Given the description of an element on the screen output the (x, y) to click on. 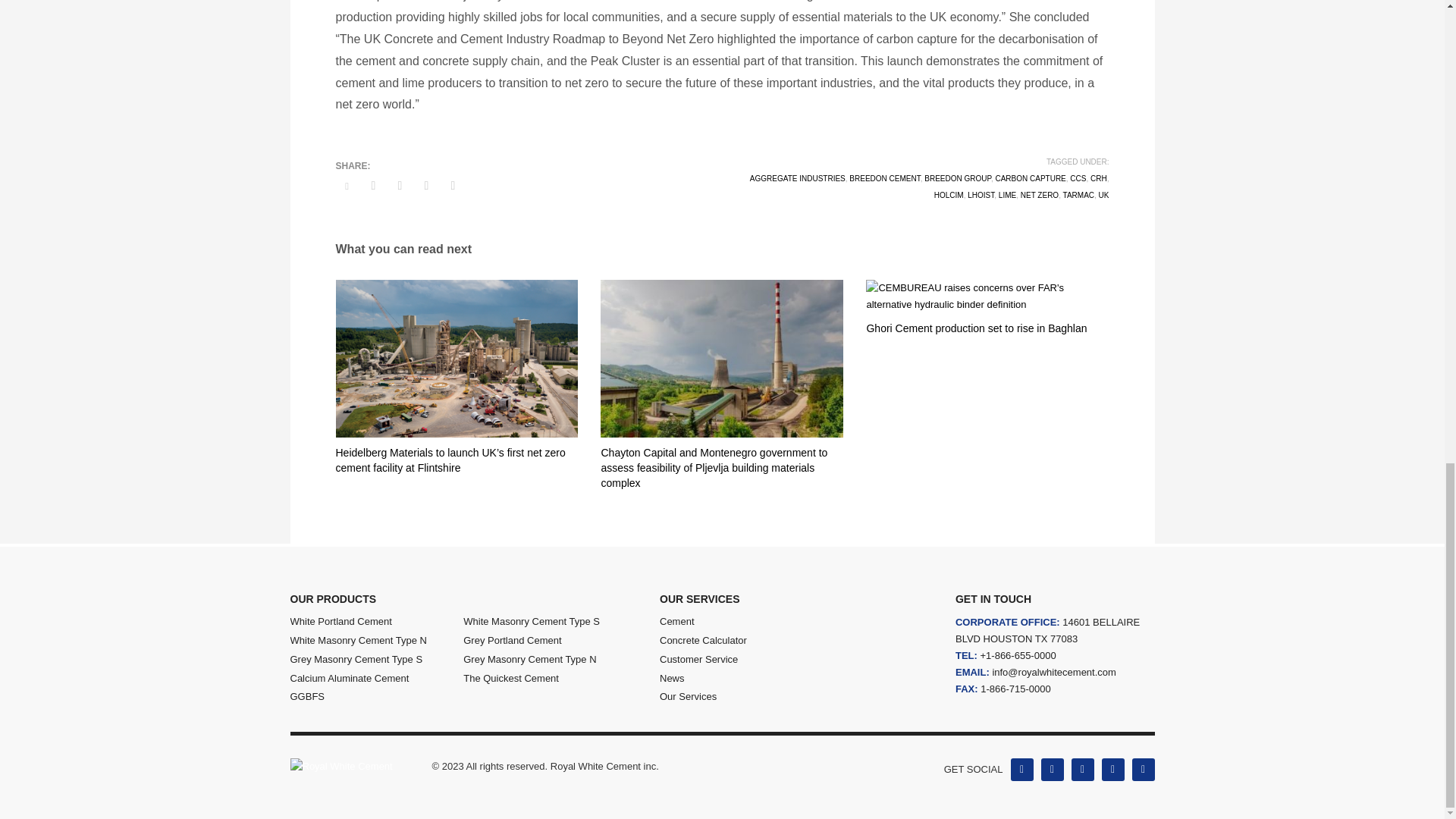
SHARE ON TWITTER (346, 186)
Montenegro-EPCG-ready-reconstruction-TPP-Pljevlja-jump-costs (721, 358)
SHARE ON GPLUS (399, 185)
Like us on Facebook! (1021, 769)
SHARE ON MAIL (452, 185)
SHARE ON FACEBOOK (373, 185)
SHARE ON PINTEREST (426, 185)
